Given the description of an element on the screen output the (x, y) to click on. 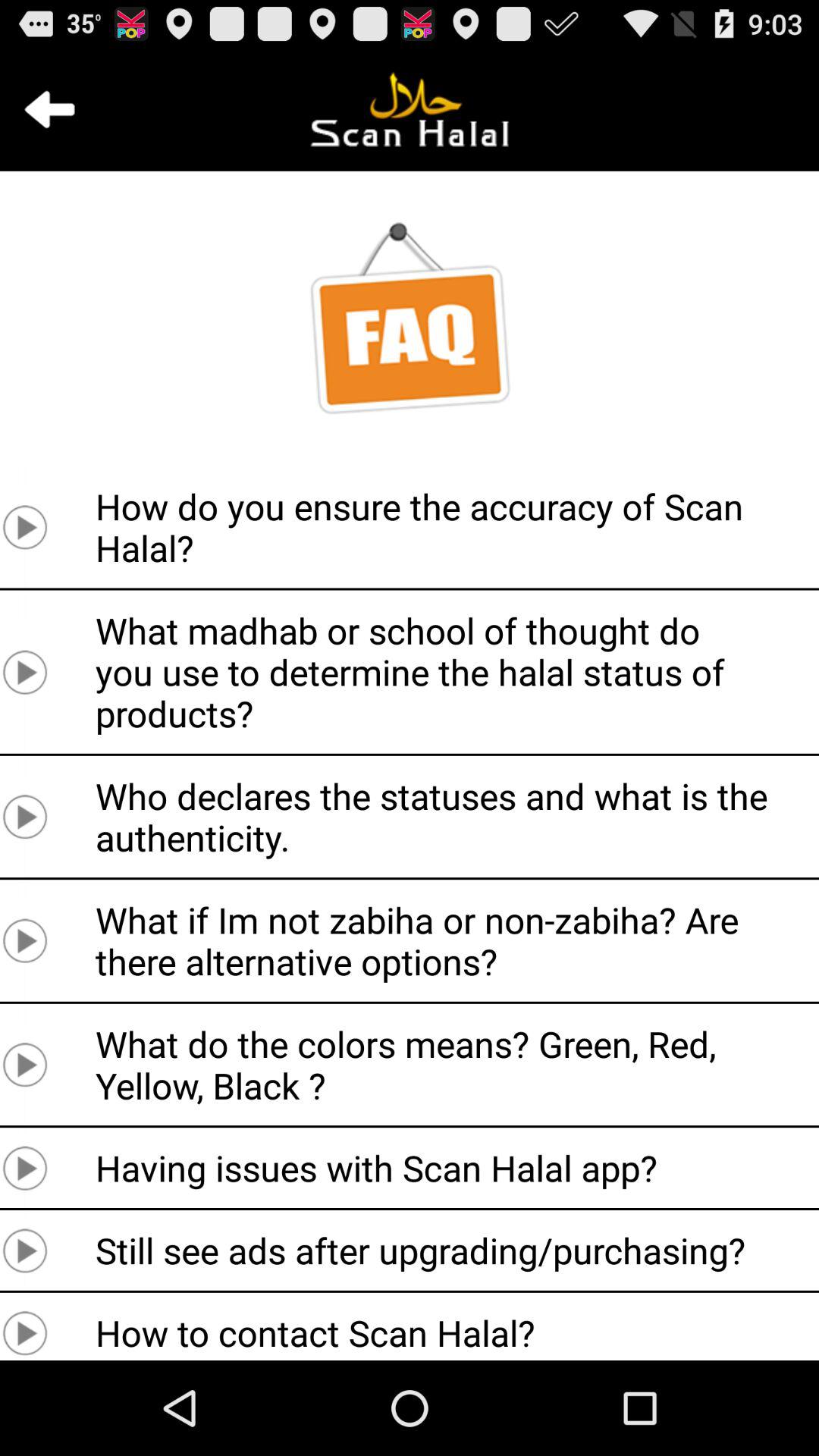
click on the back arrow (49, 109)
select faq icon which is below scan halal on the page (409, 318)
